Given the description of an element on the screen output the (x, y) to click on. 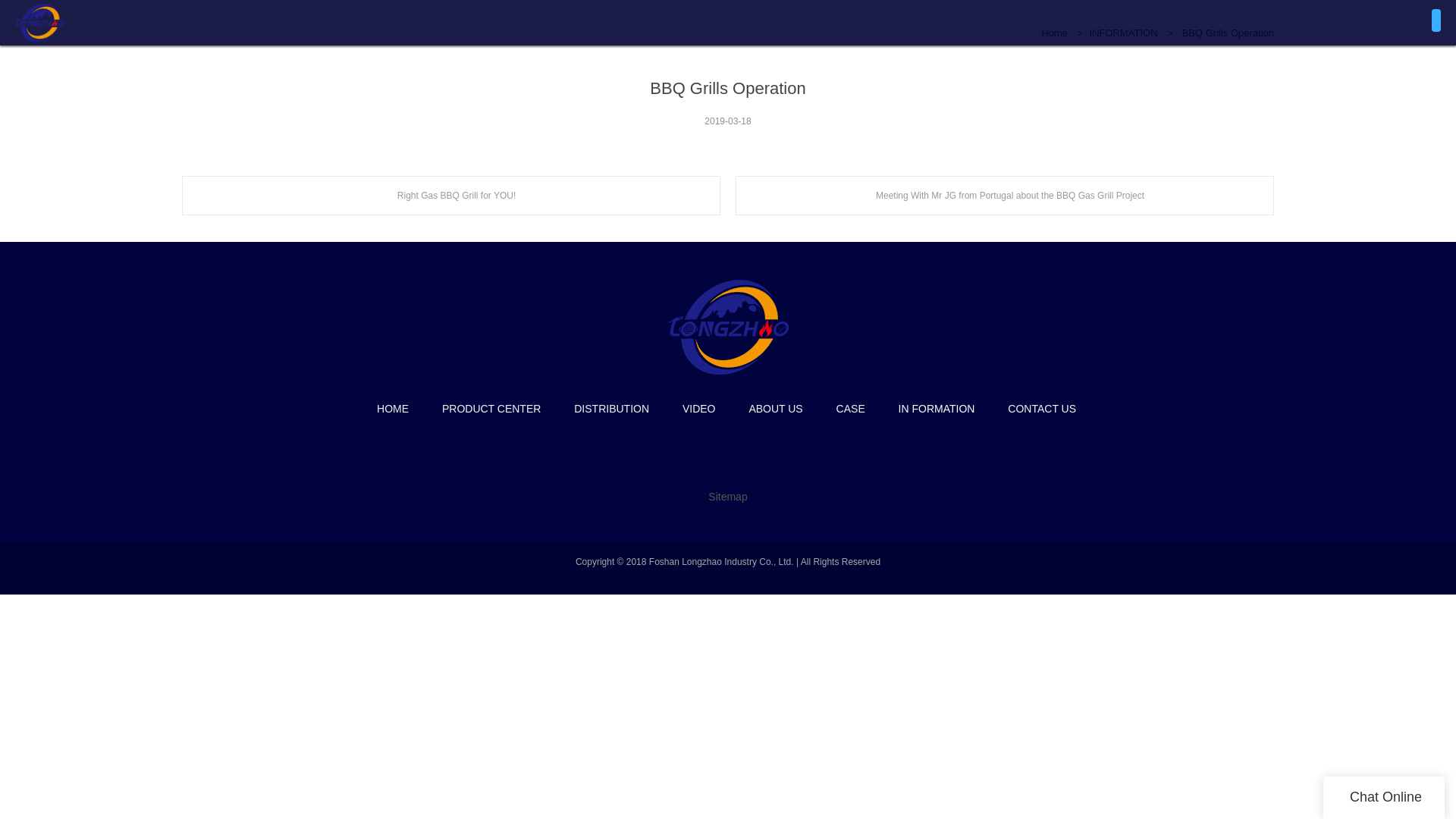
INFORMATION (1123, 32)
Right Gas BBQ Grill for YOU! (451, 195)
Right Gas BBQ Grill for YOU! (451, 195)
Home (1054, 32)
